Given the description of an element on the screen output the (x, y) to click on. 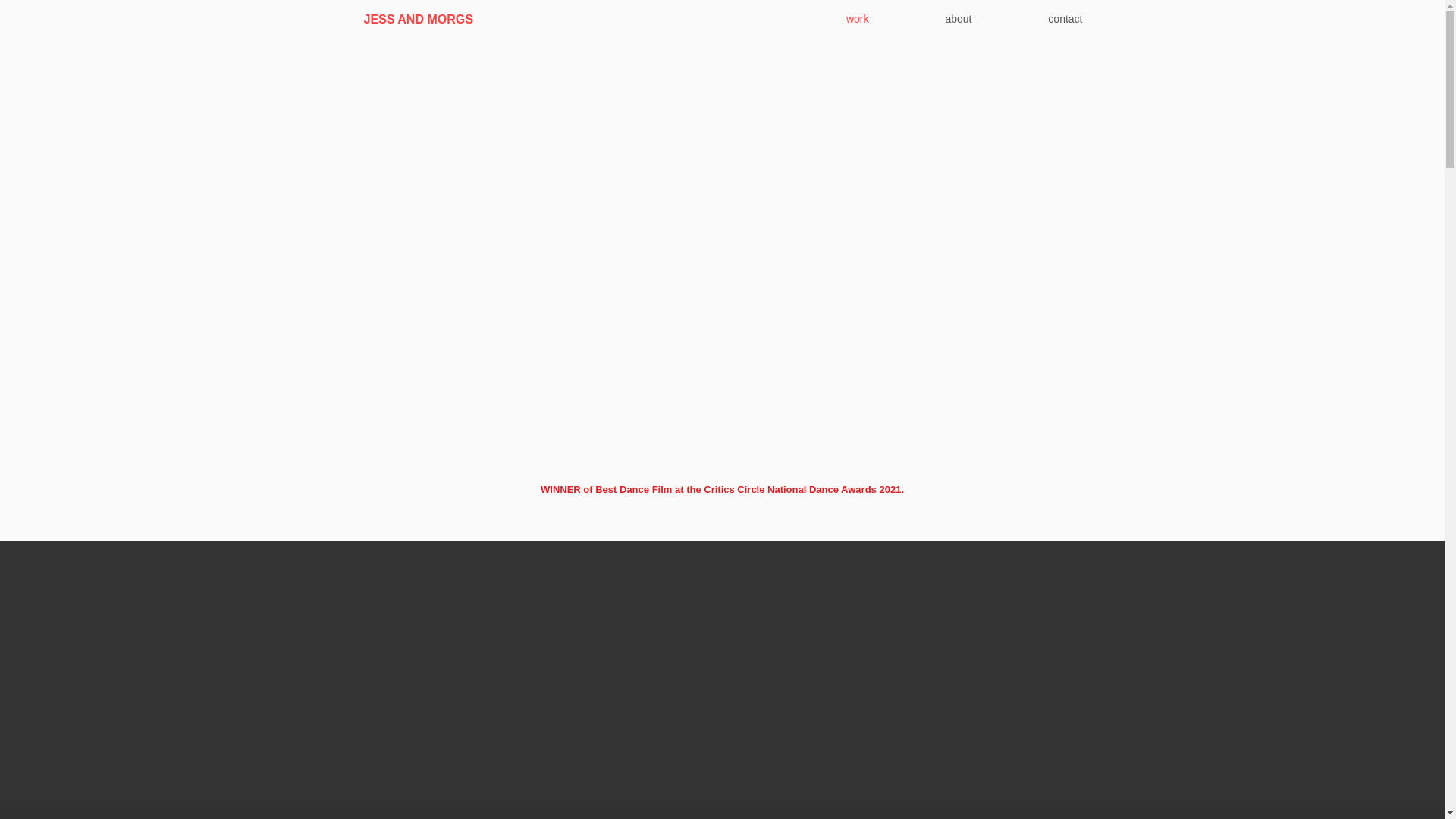
contact (1037, 19)
JESS AND MORGS (418, 16)
about (930, 19)
work (829, 19)
